Given the description of an element on the screen output the (x, y) to click on. 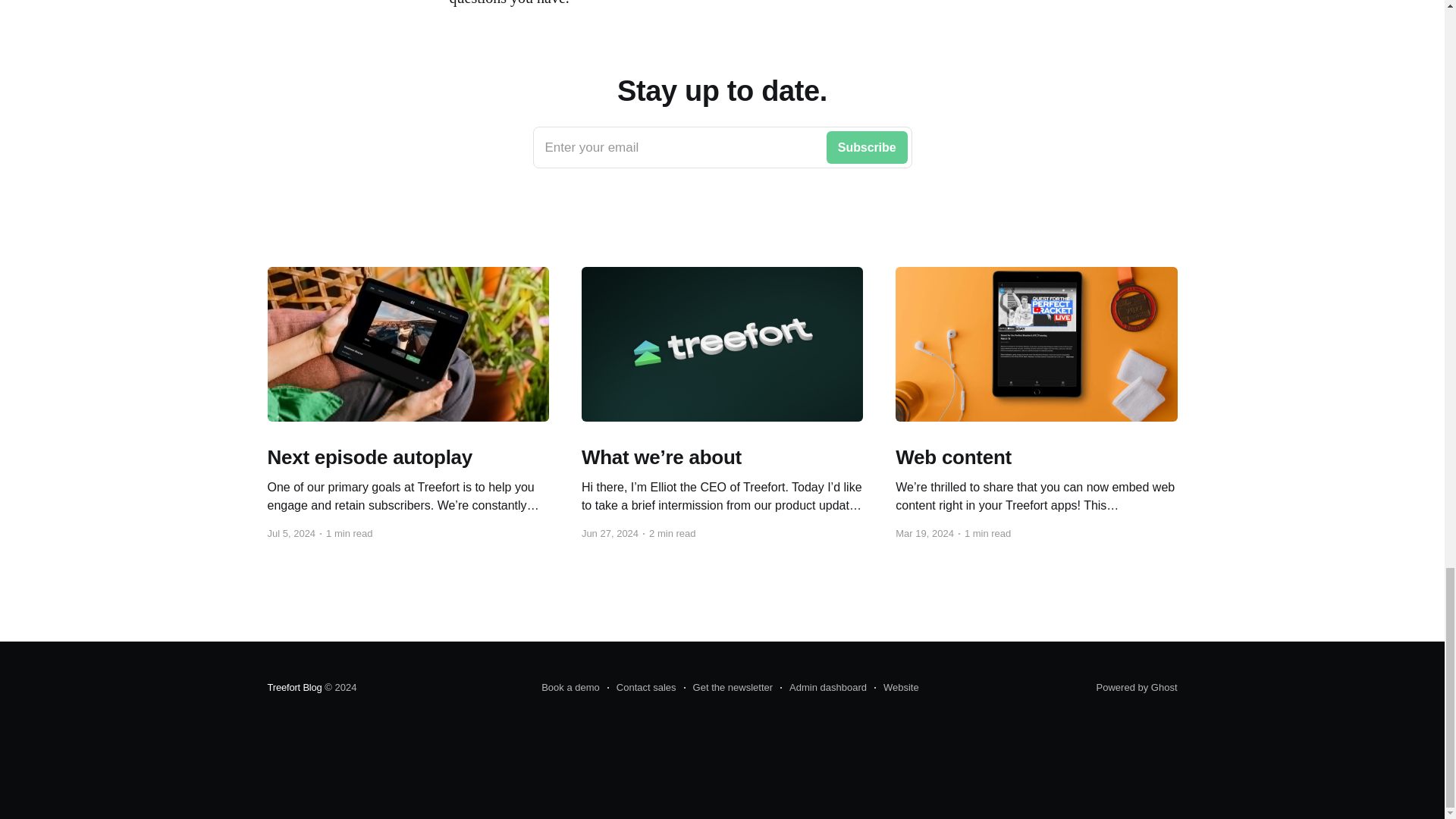
Get the newsletter (728, 687)
Treefort Blog (293, 686)
Admin dashboard (823, 687)
Book a demo (570, 687)
Powered by Ghost (1136, 686)
Website (896, 687)
Contact sales (642, 687)
